Given the description of an element on the screen output the (x, y) to click on. 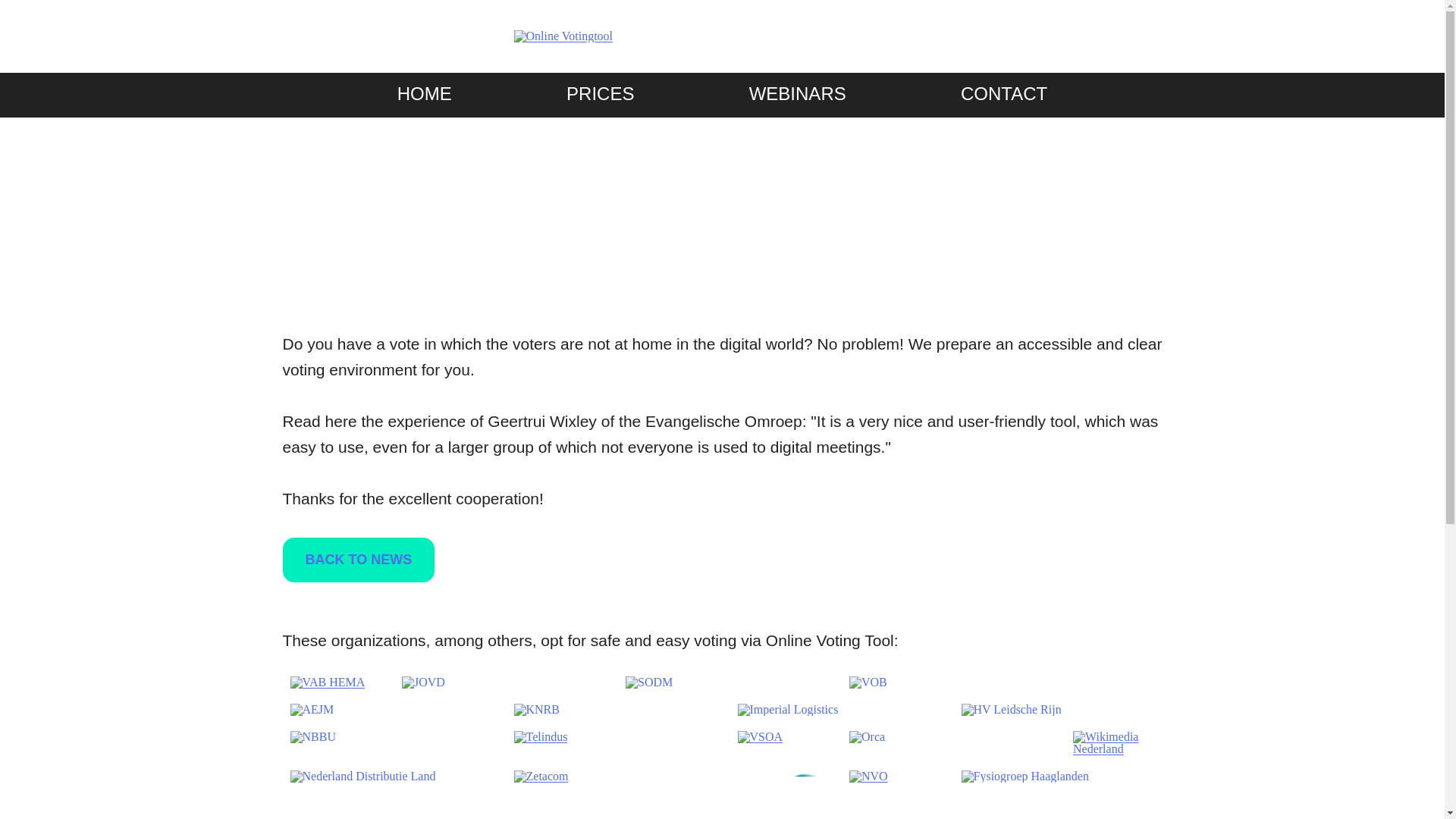
WEBINARS (797, 93)
CONTACT (1003, 93)
Online Votingtool (562, 36)
BACK TO NEWS (357, 559)
PRICES (599, 93)
HOME (424, 93)
